Given the description of an element on the screen output the (x, y) to click on. 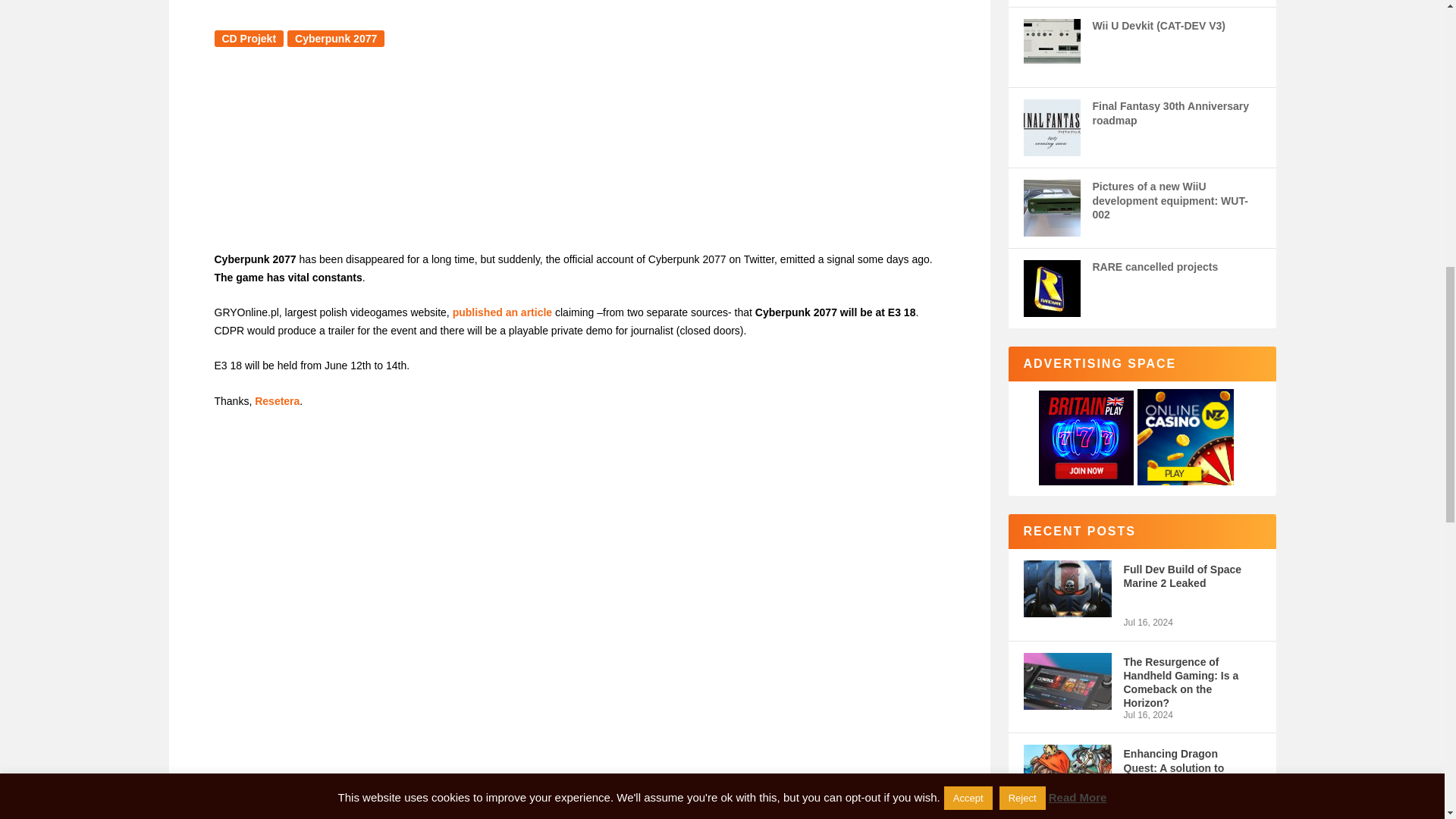
Advertisement (578, 689)
Advertisement (578, 157)
